Given the description of an element on the screen output the (x, y) to click on. 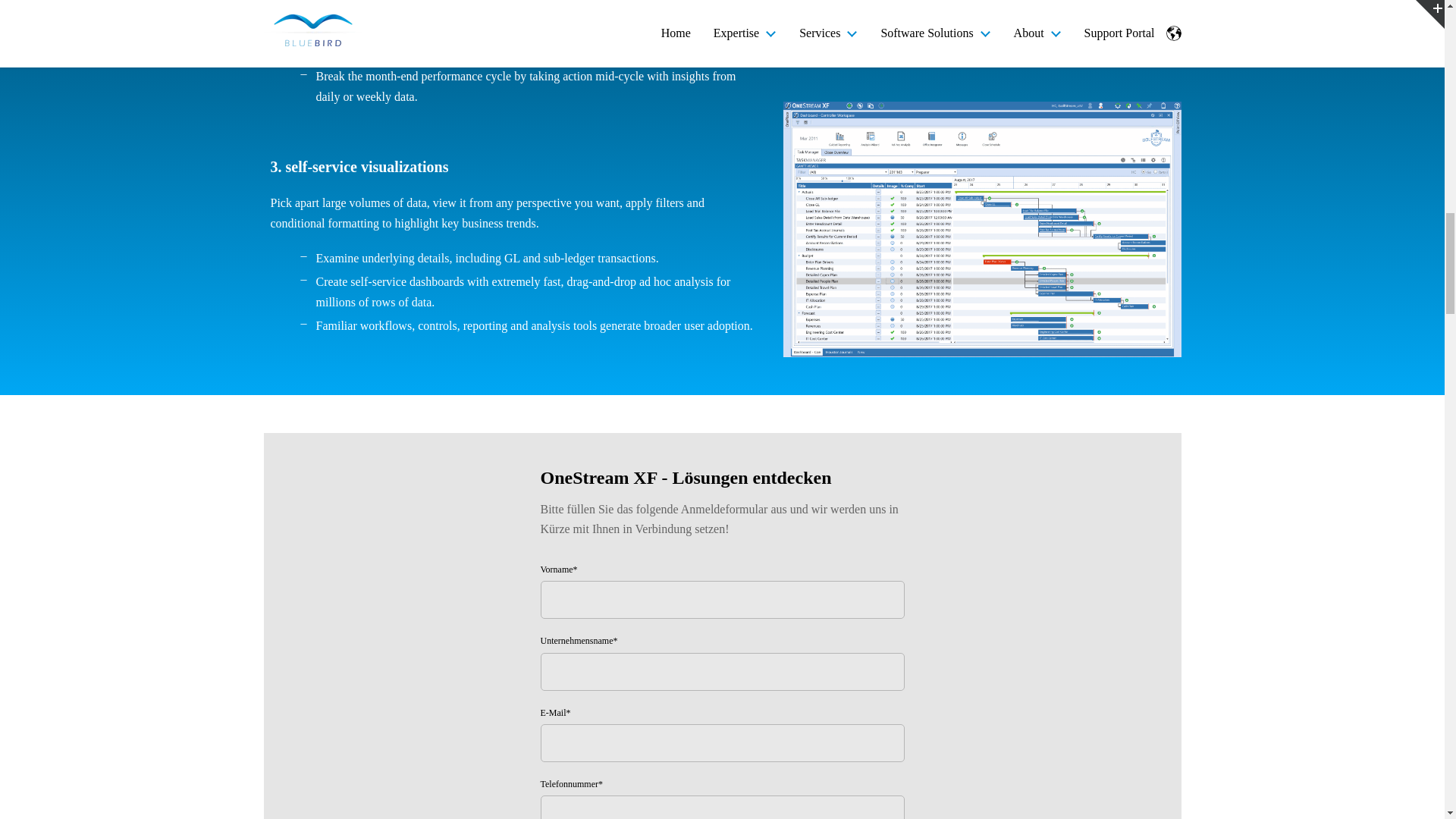
YouTube video player (981, 50)
